Given the description of an element on the screen output the (x, y) to click on. 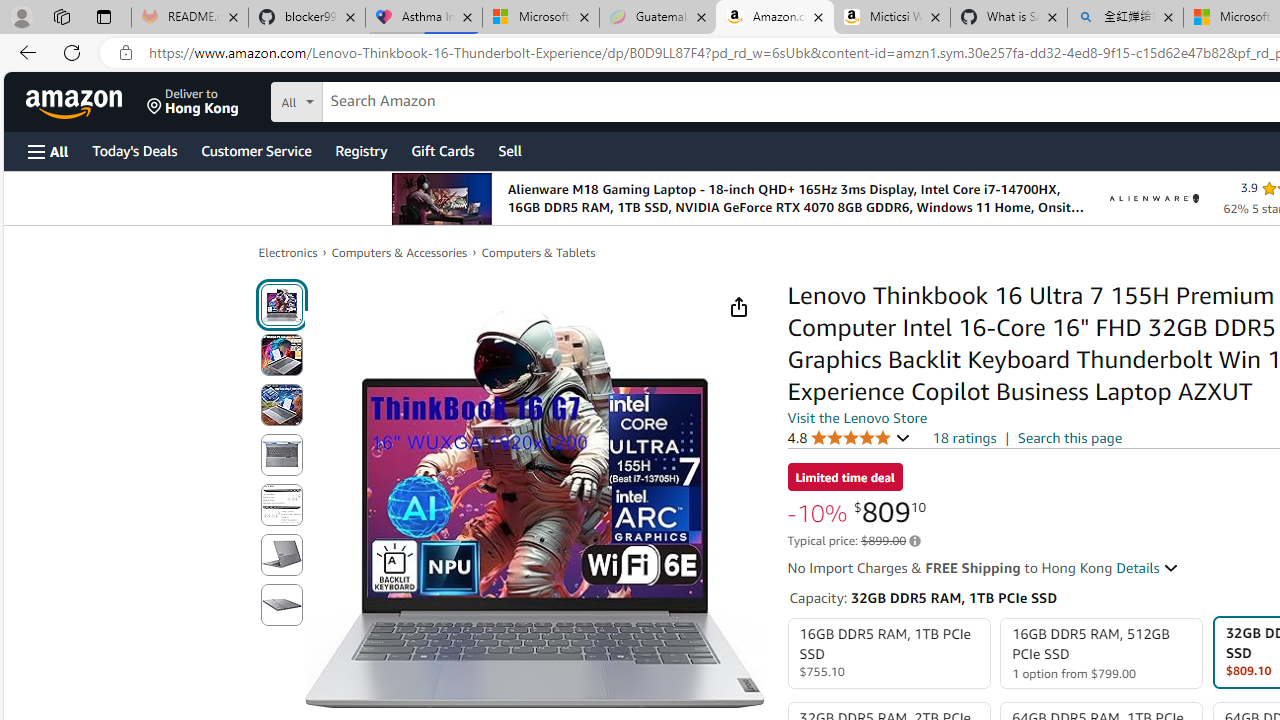
Computers & Accessories (399, 251)
Visit the Lenovo Store (857, 417)
Customer Service (256, 150)
4.8 4.8 out of 5 stars (849, 437)
Today's Deals (134, 150)
16GB DDR5 RAM, 512GB PCIe SSD 1 option from $799.00 (1101, 653)
Computers & Accessories (399, 252)
Amazon (76, 101)
18 ratings (964, 438)
